Given the description of an element on the screen output the (x, y) to click on. 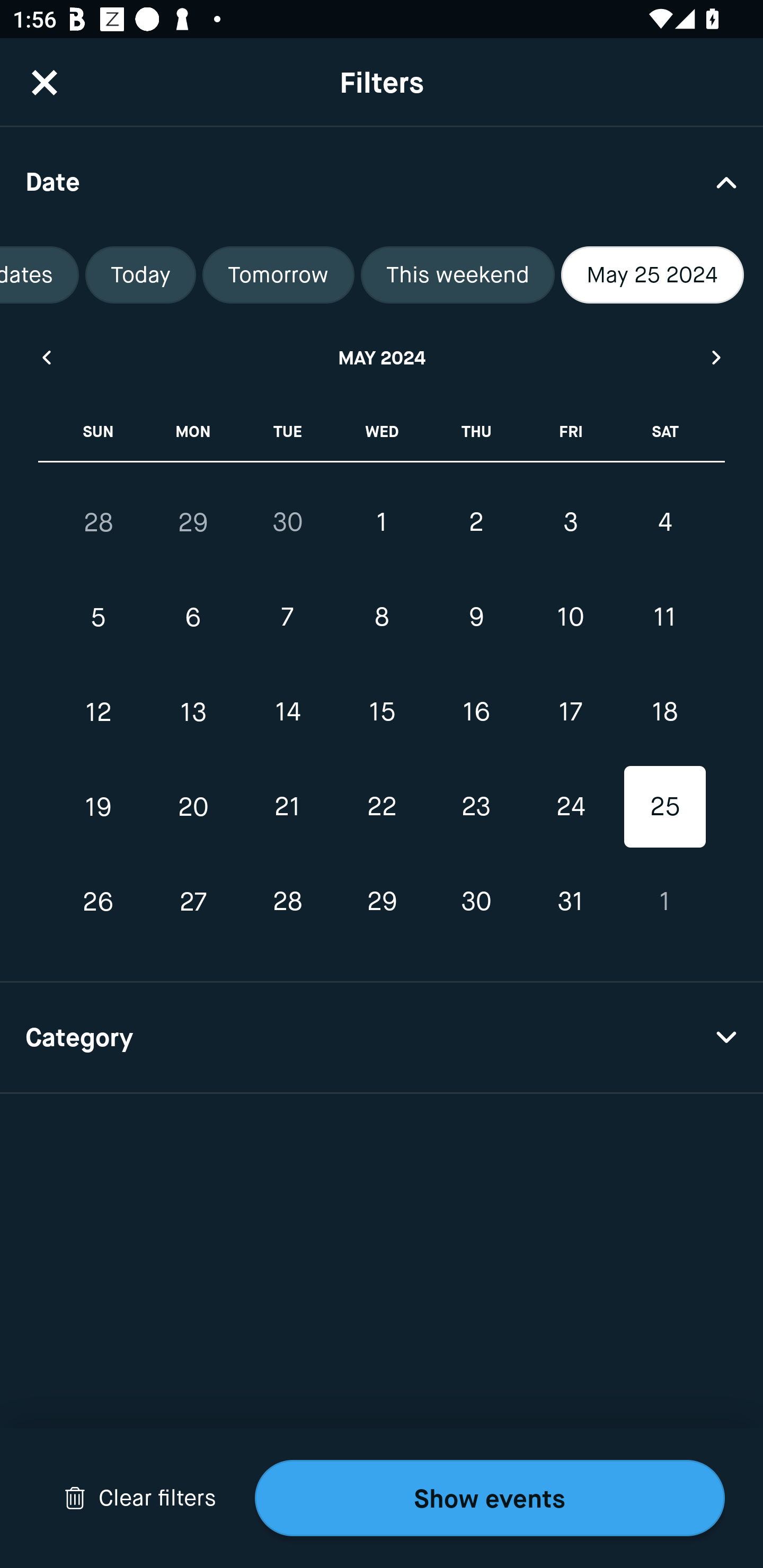
CloseButton (44, 82)
Date Drop Down Arrow (381, 181)
Today (140, 274)
Tomorrow (278, 274)
This weekend (457, 274)
May 25 2024 (651, 274)
Previous (45, 357)
Next (717, 357)
28 (98, 522)
29 (192, 522)
30 (287, 522)
1 (381, 522)
2 (475, 522)
3 (570, 522)
4 (664, 522)
5 (98, 617)
6 (192, 617)
7 (287, 617)
8 (381, 617)
9 (475, 617)
10 (570, 617)
11 (664, 617)
12 (98, 711)
13 (192, 711)
14 (287, 711)
15 (381, 711)
16 (475, 711)
17 (570, 711)
18 (664, 711)
19 (98, 806)
20 (192, 806)
21 (287, 806)
22 (381, 806)
23 (475, 806)
24 (570, 806)
25 (664, 806)
26 (98, 901)
27 (192, 901)
28 (287, 901)
29 (381, 901)
30 (475, 901)
31 (570, 901)
1 (664, 901)
Category Drop Down Arrow (381, 1038)
Drop Down Arrow Clear filters (139, 1497)
Show events (489, 1497)
